Given the description of an element on the screen output the (x, y) to click on. 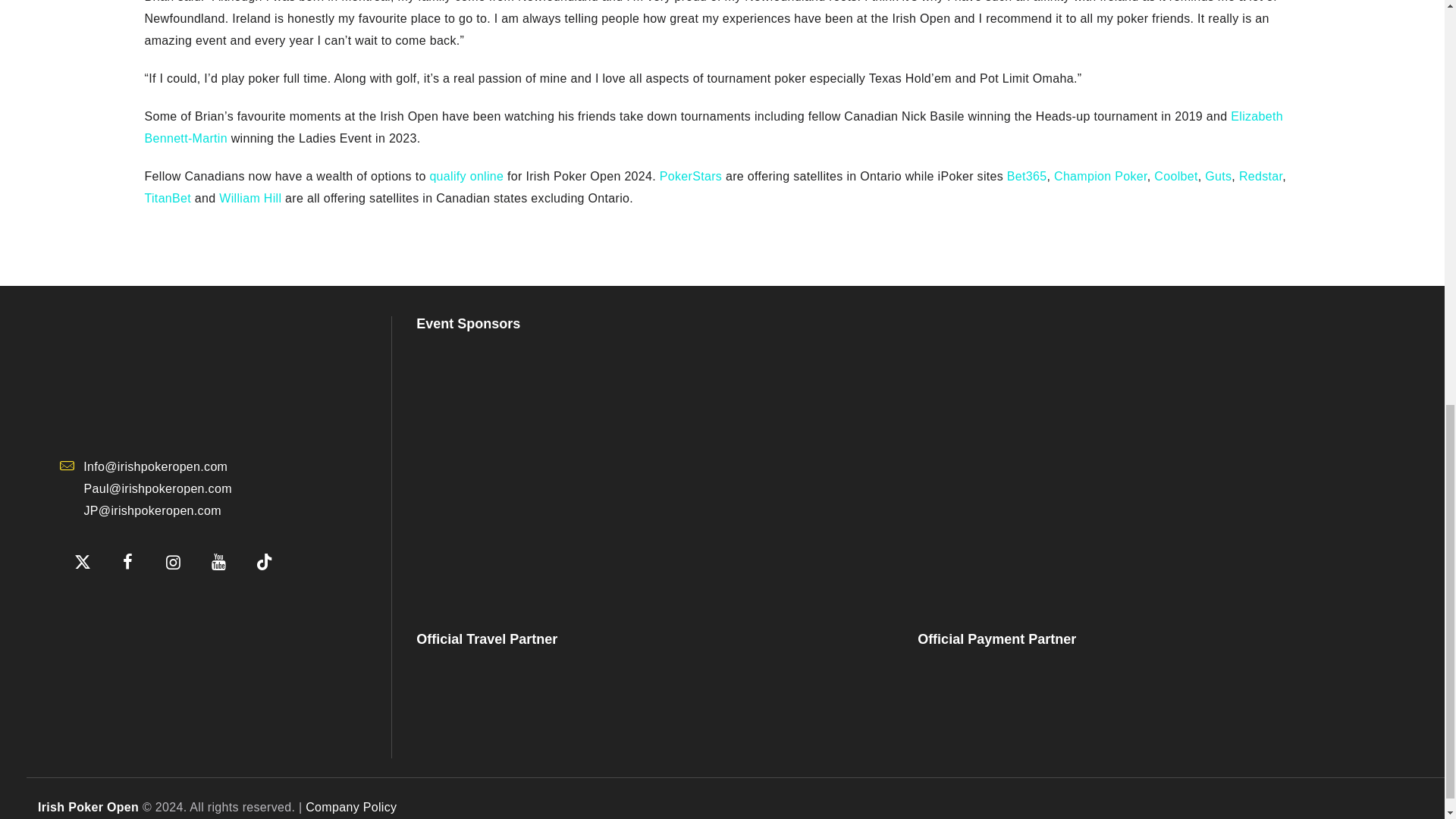
TRAVEL WHITE (526, 702)
Screen Shot 2023-01-12 at 09.14.15 (135, 607)
PSLogoTransparent (652, 470)
cropped-Irish-Open-Logo.jpg (172, 376)
